Given the description of an element on the screen output the (x, y) to click on. 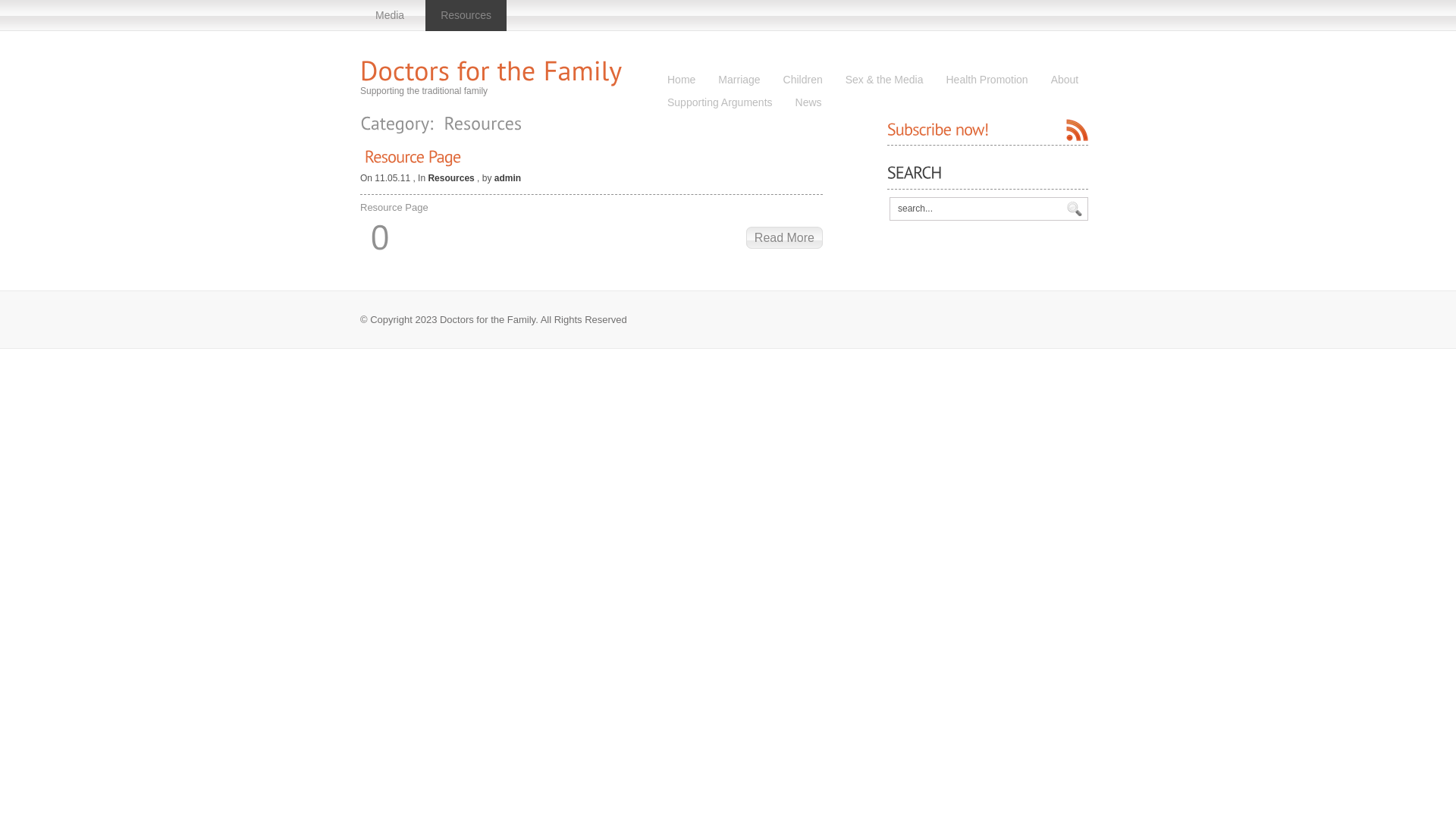
News Element type: text (808, 102)
Resources Element type: text (465, 15)
Resource Page Element type: hover (412, 155)
Home Element type: text (680, 80)
About Element type: text (1064, 80)
Read More Element type: text (784, 237)
Supporting Arguments Element type: text (719, 102)
Media Element type: text (389, 15)
Doctors for the Family - Supporting the traditional family Element type: hover (491, 69)
View Comments Element type: hover (379, 235)
Children Element type: text (802, 80)
admin Element type: text (507, 177)
Sex & the Media Element type: text (884, 80)
search... Element type: text (975, 208)
Marriage Element type: text (738, 80)
Resources Element type: text (450, 177)
Health Promotion Element type: text (986, 80)
